Given the description of an element on the screen output the (x, y) to click on. 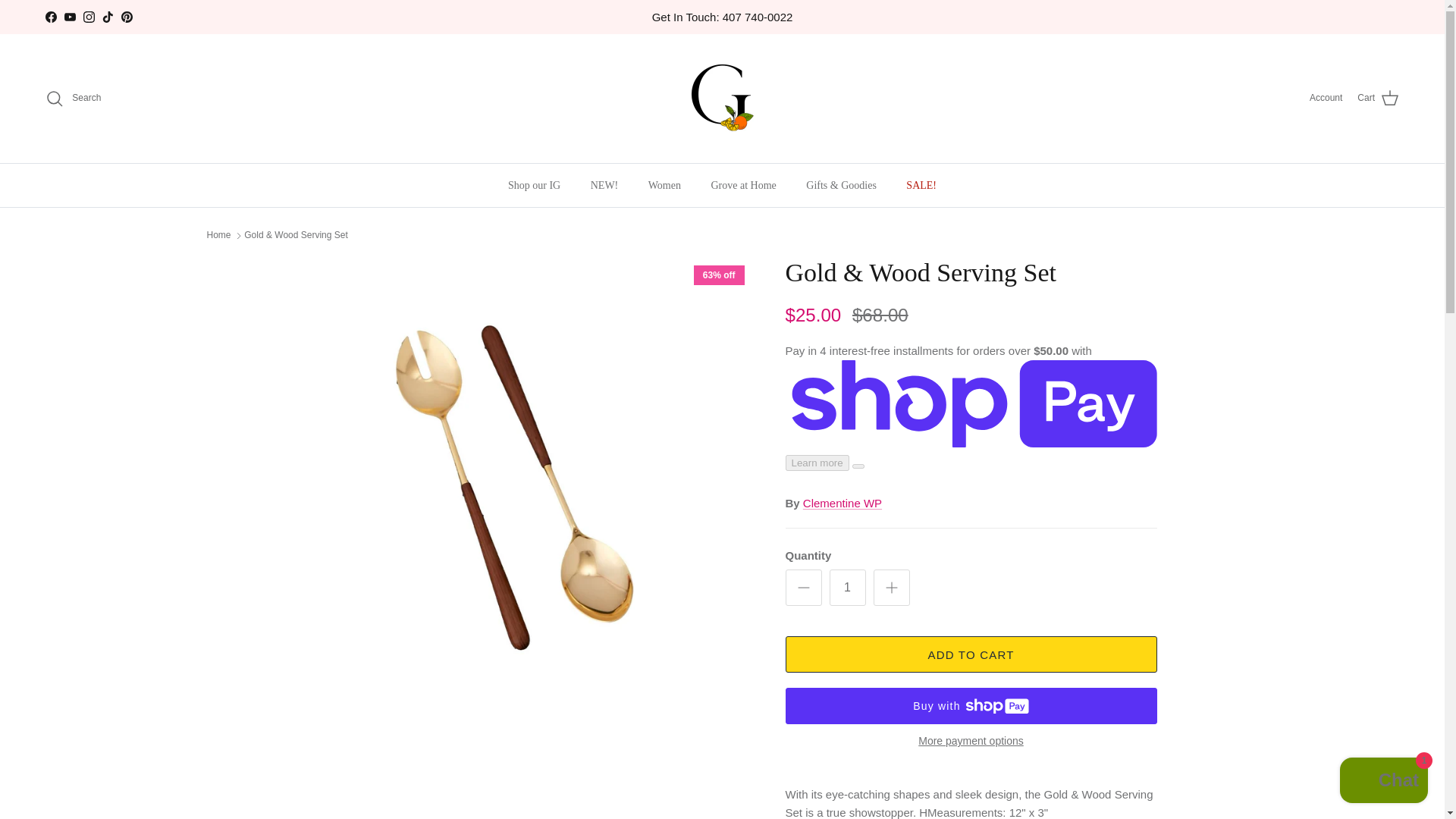
The Grove on TikTok (107, 16)
Search (72, 98)
1 (847, 587)
Instagram (88, 16)
NEW! (603, 185)
TikTok (107, 16)
The Grove on YouTube (69, 16)
Pinterest (126, 16)
Women (664, 185)
Cart (1377, 98)
Shop our IG (534, 185)
Facebook (50, 16)
Shopify online store chat (1383, 781)
The Grove (721, 98)
YouTube (69, 16)
